Given the description of an element on the screen output the (x, y) to click on. 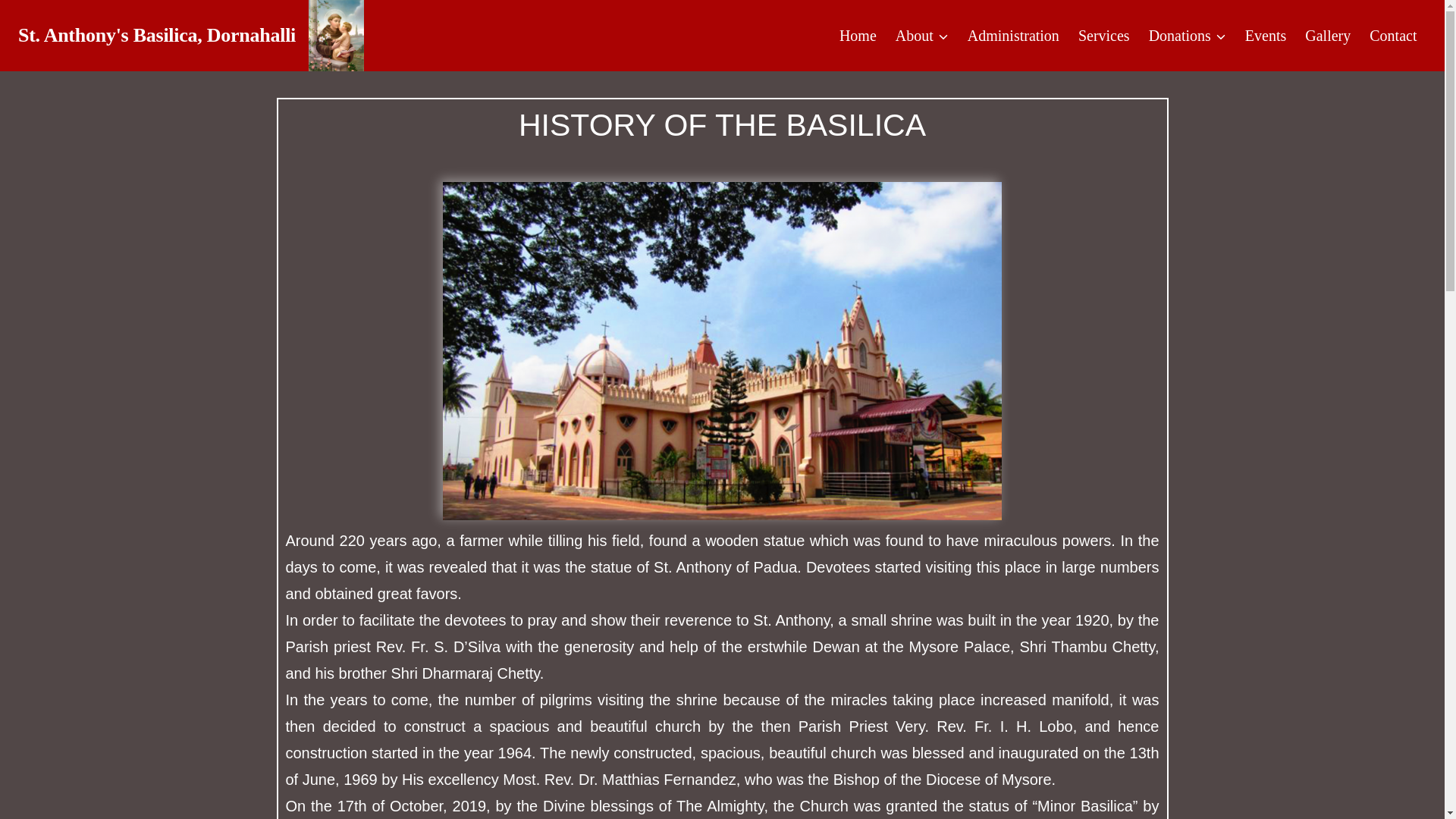
About (921, 35)
Donations (1186, 35)
Home (857, 35)
Services (1103, 35)
Administration (1013, 35)
Events (1264, 35)
Gallery (1327, 35)
Contact (1392, 35)
St. Anthony'S Basilica, Dornahalli (190, 35)
